Given the description of an element on the screen output the (x, y) to click on. 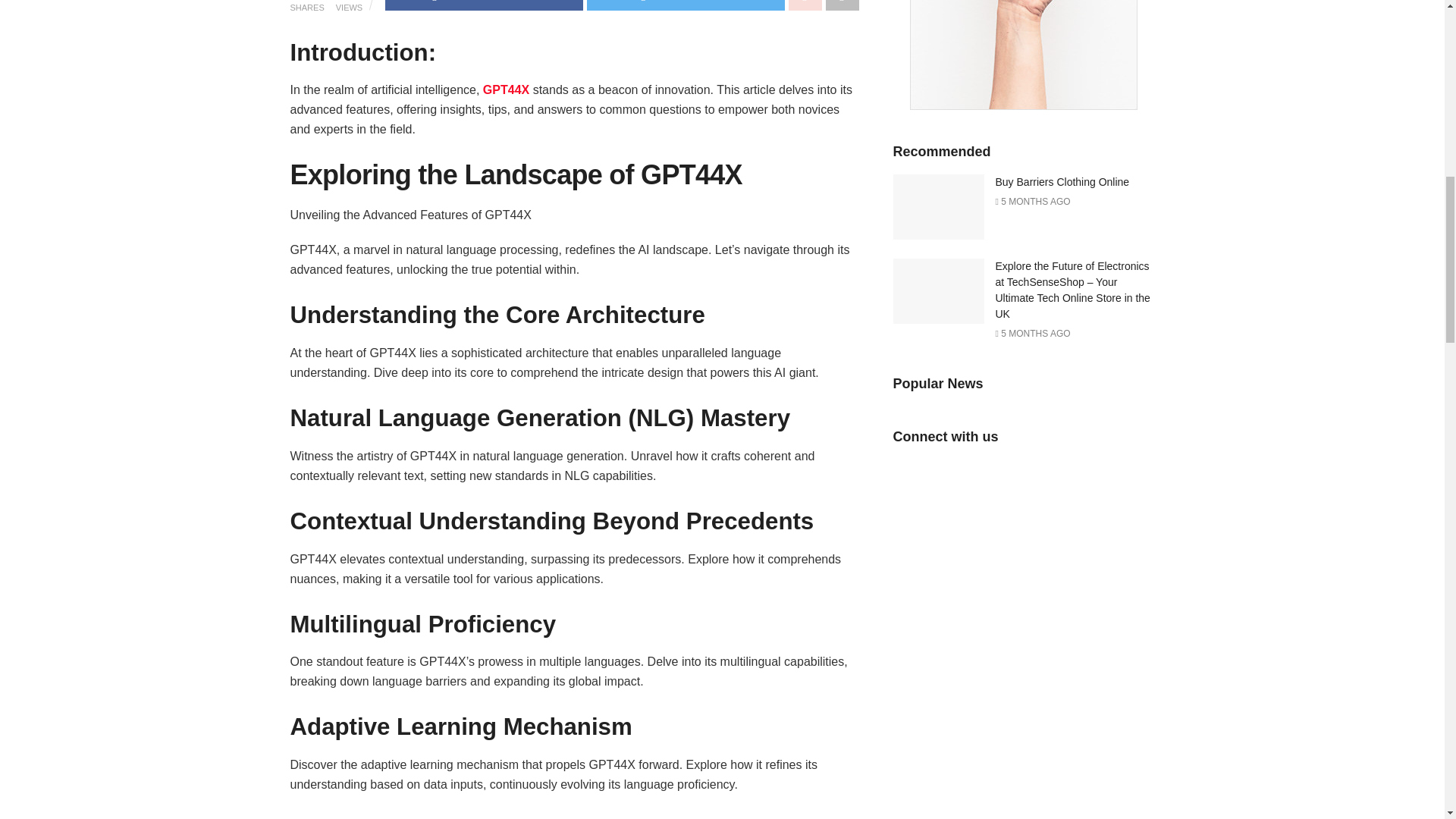
Share on Facebook (484, 5)
Share on Twitter (685, 5)
